Given the description of an element on the screen output the (x, y) to click on. 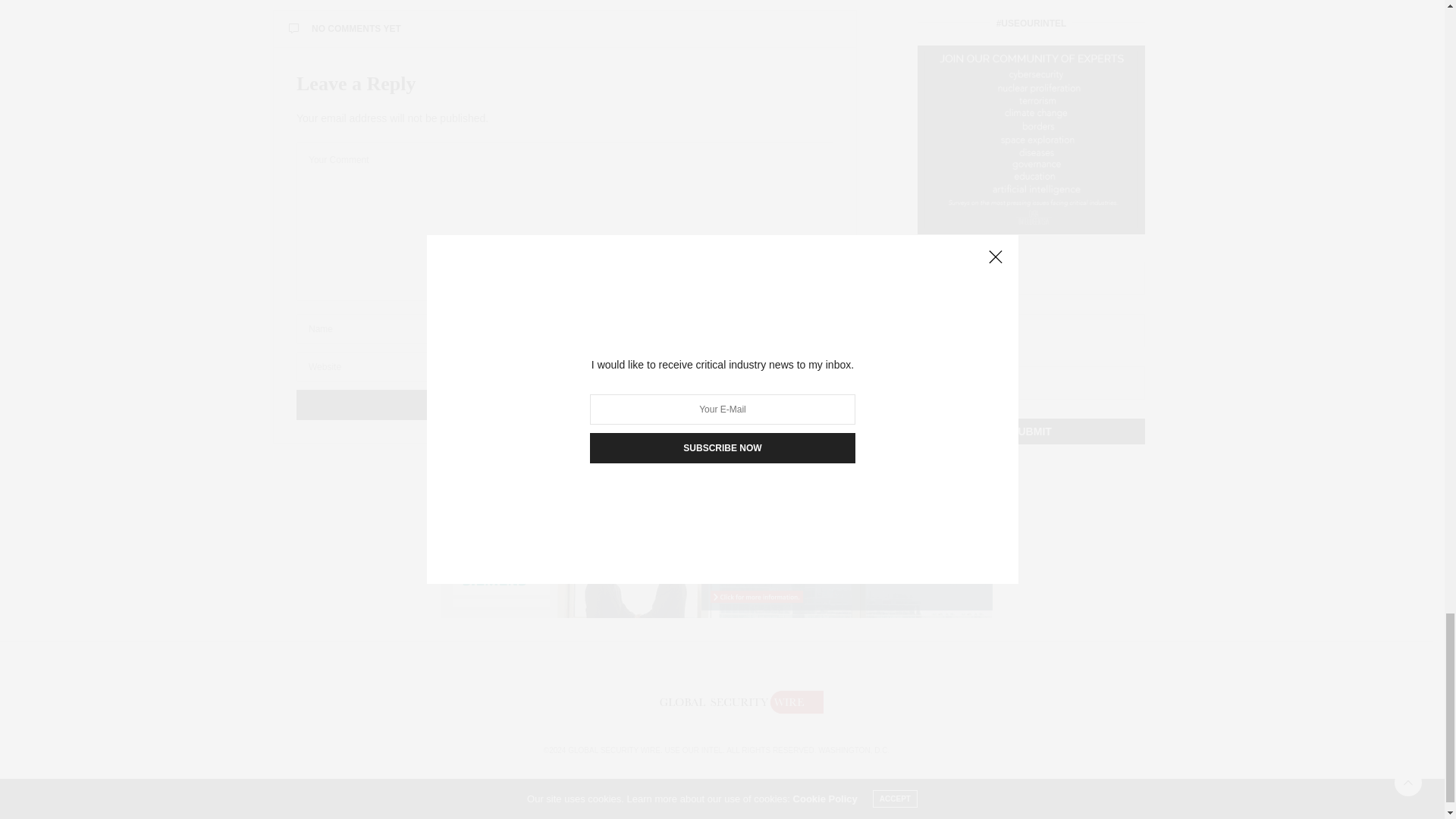
Submit Comment (564, 404)
